Given the description of an element on the screen output the (x, y) to click on. 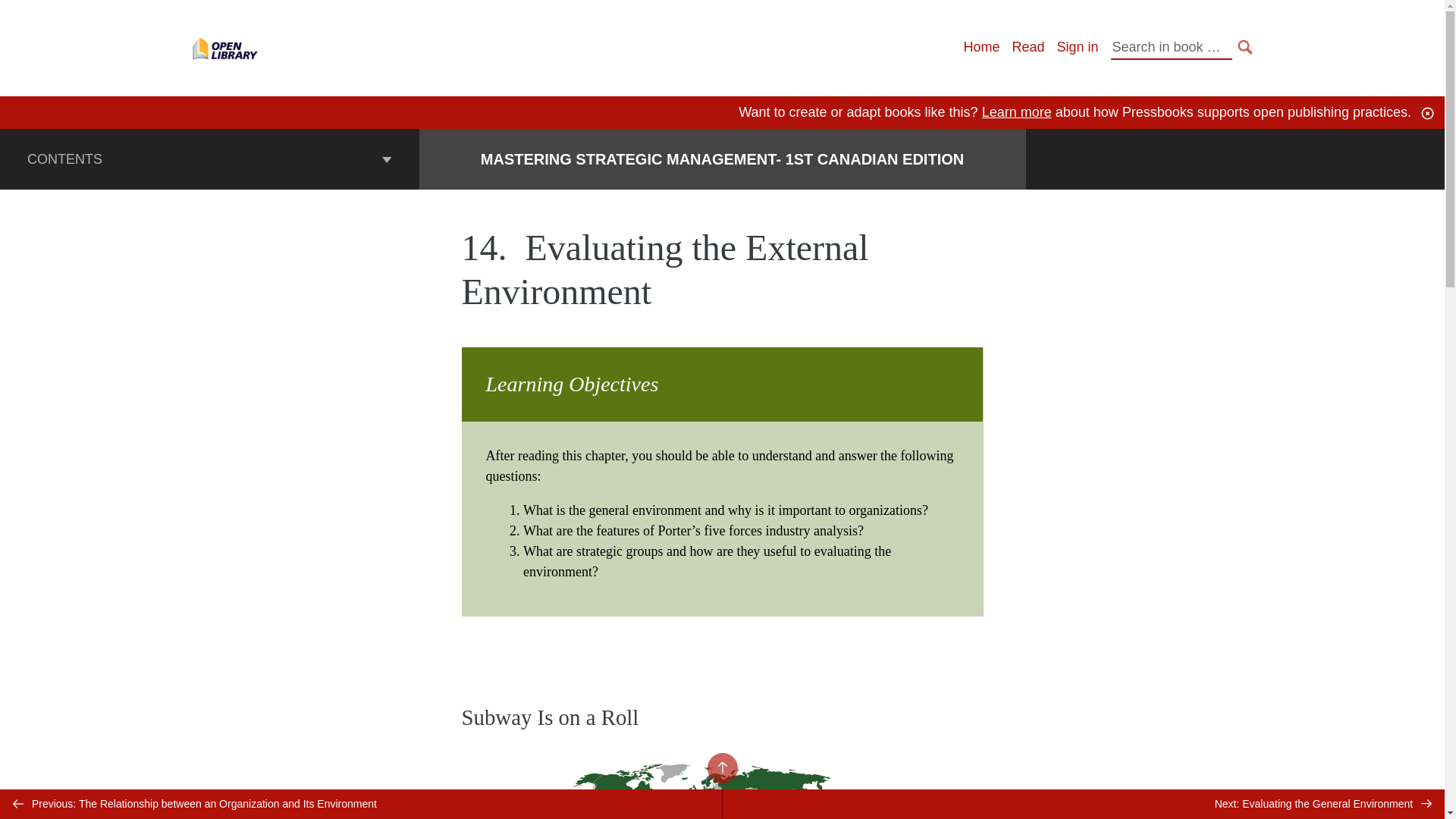
Learn more (1016, 111)
BACK TO TOP (721, 767)
MASTERING STRATEGIC MANAGEMENT- 1ST CANADIAN EDITION (721, 159)
Sign in (1077, 46)
Read (1027, 46)
CONTENTS (209, 158)
Home (980, 46)
